Given the description of an element on the screen output the (x, y) to click on. 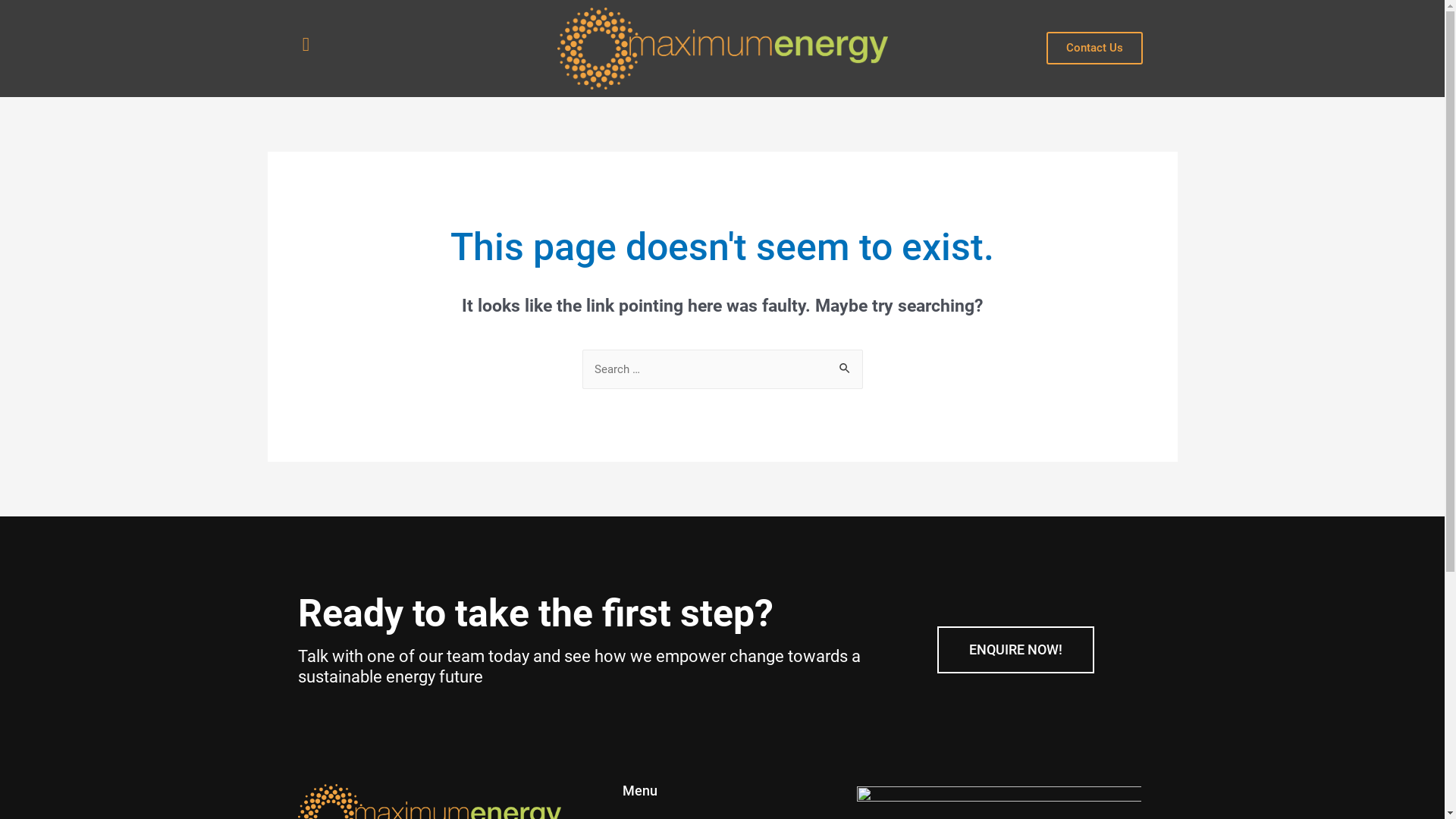
Contact Us Element type: text (1094, 47)
Search Element type: text (845, 364)
ENQUIRE NOW! Element type: text (1015, 649)
